Given the description of an element on the screen output the (x, y) to click on. 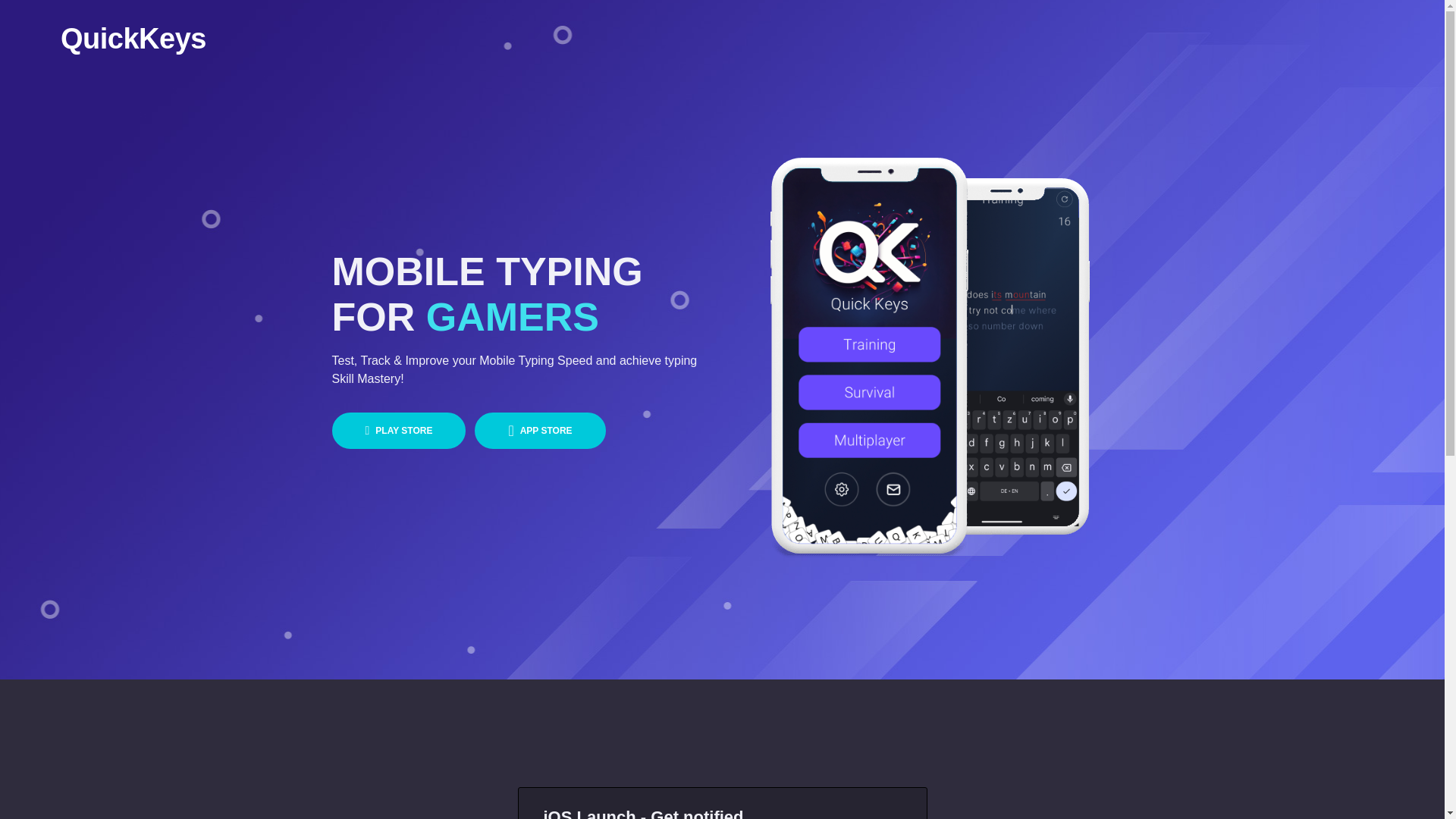
QuickKeys (133, 38)
APP STORE (539, 430)
QuickKeys (133, 38)
APP STORE (539, 430)
PLAY STORE (398, 430)
PLAY STORE (398, 430)
